Given the description of an element on the screen output the (x, y) to click on. 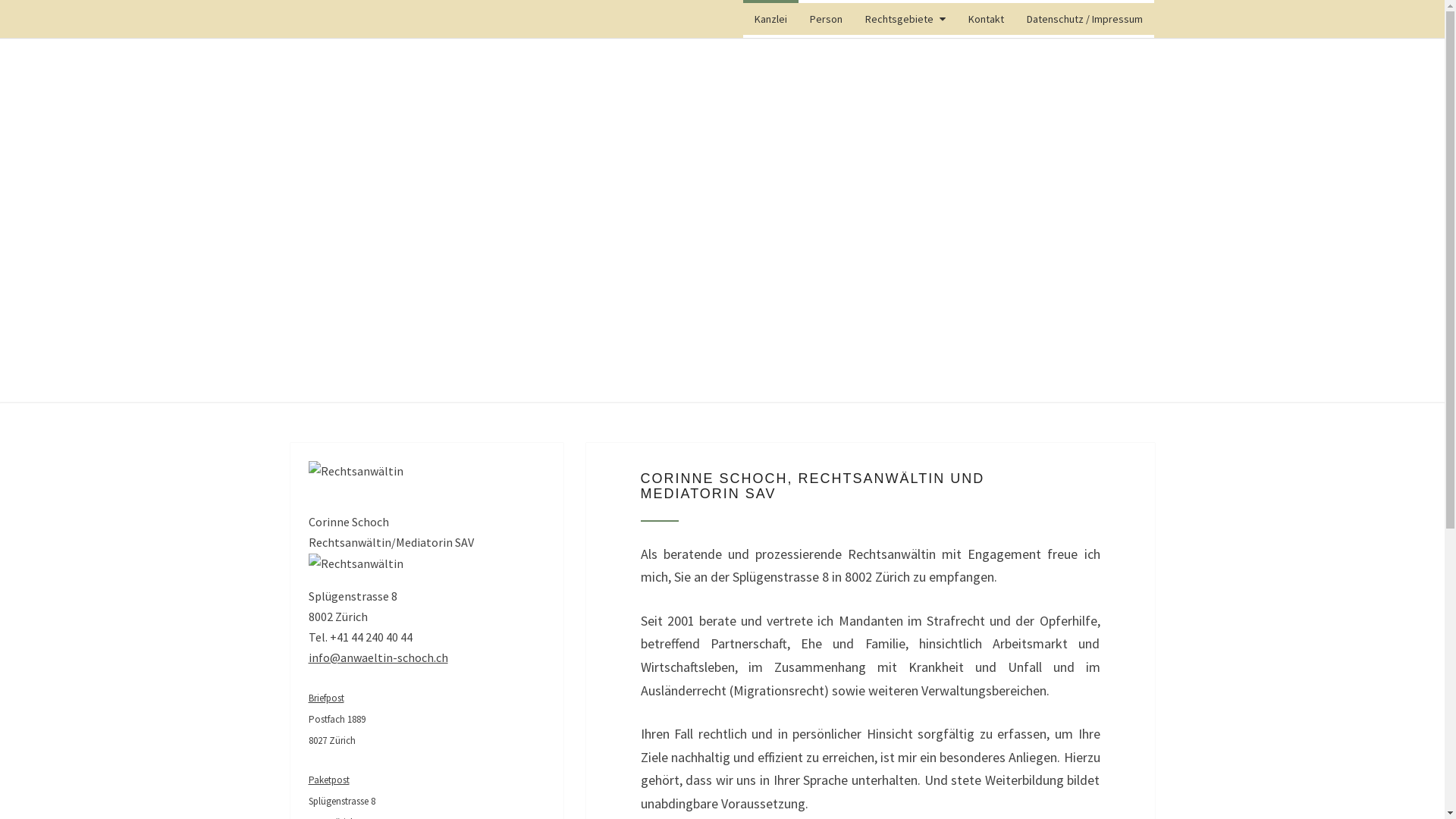
Rechtsgebiete Element type: text (905, 18)
Kontakt Element type: text (986, 18)
Datenschutz / Impressum Element type: text (1084, 18)
Kanzlei Element type: text (770, 18)
Person Element type: text (825, 18)
